Given the description of an element on the screen output the (x, y) to click on. 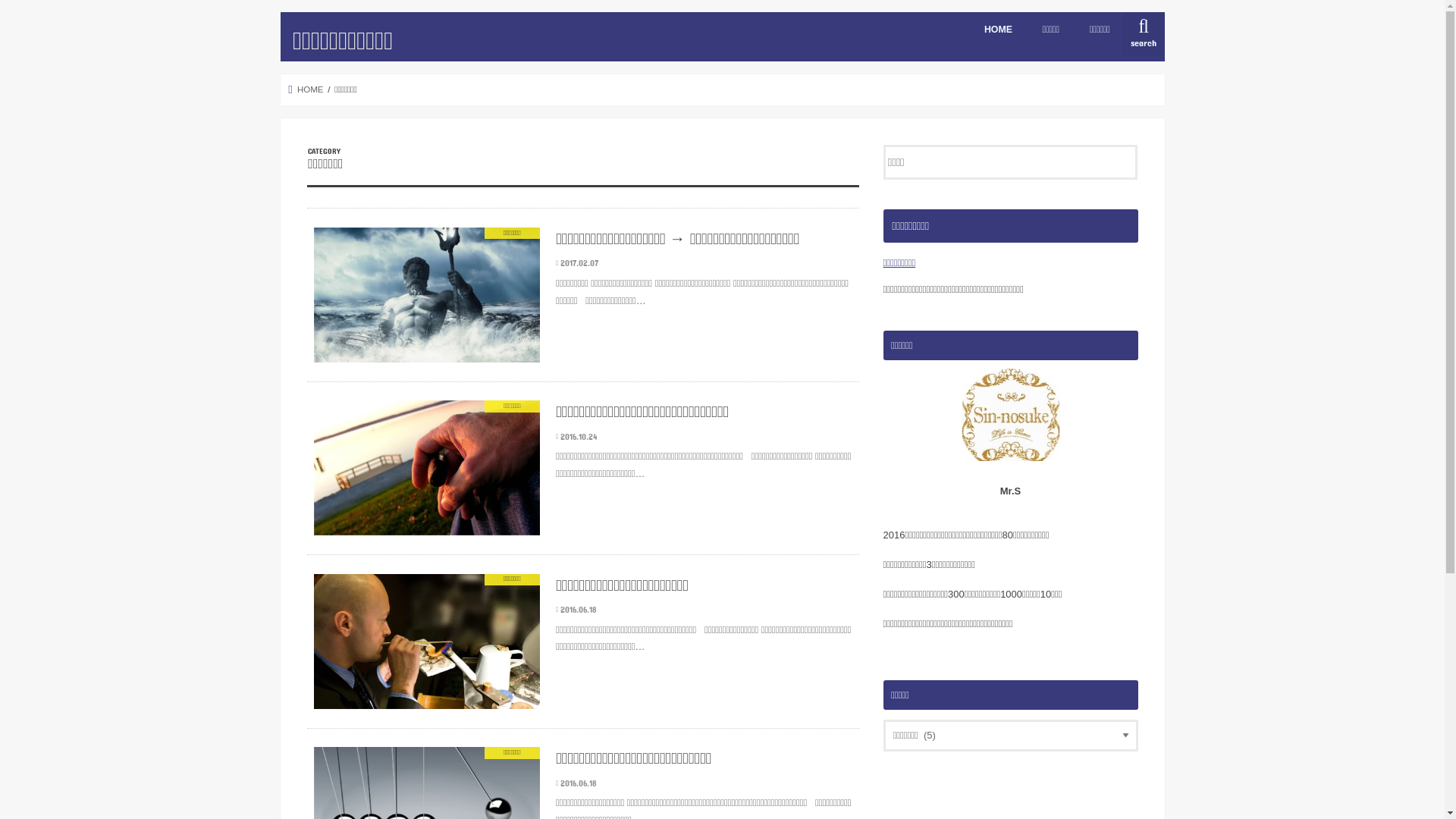
search Element type: text (1143, 34)
HOME Element type: text (305, 89)
HOME Element type: text (998, 28)
